Given the description of an element on the screen output the (x, y) to click on. 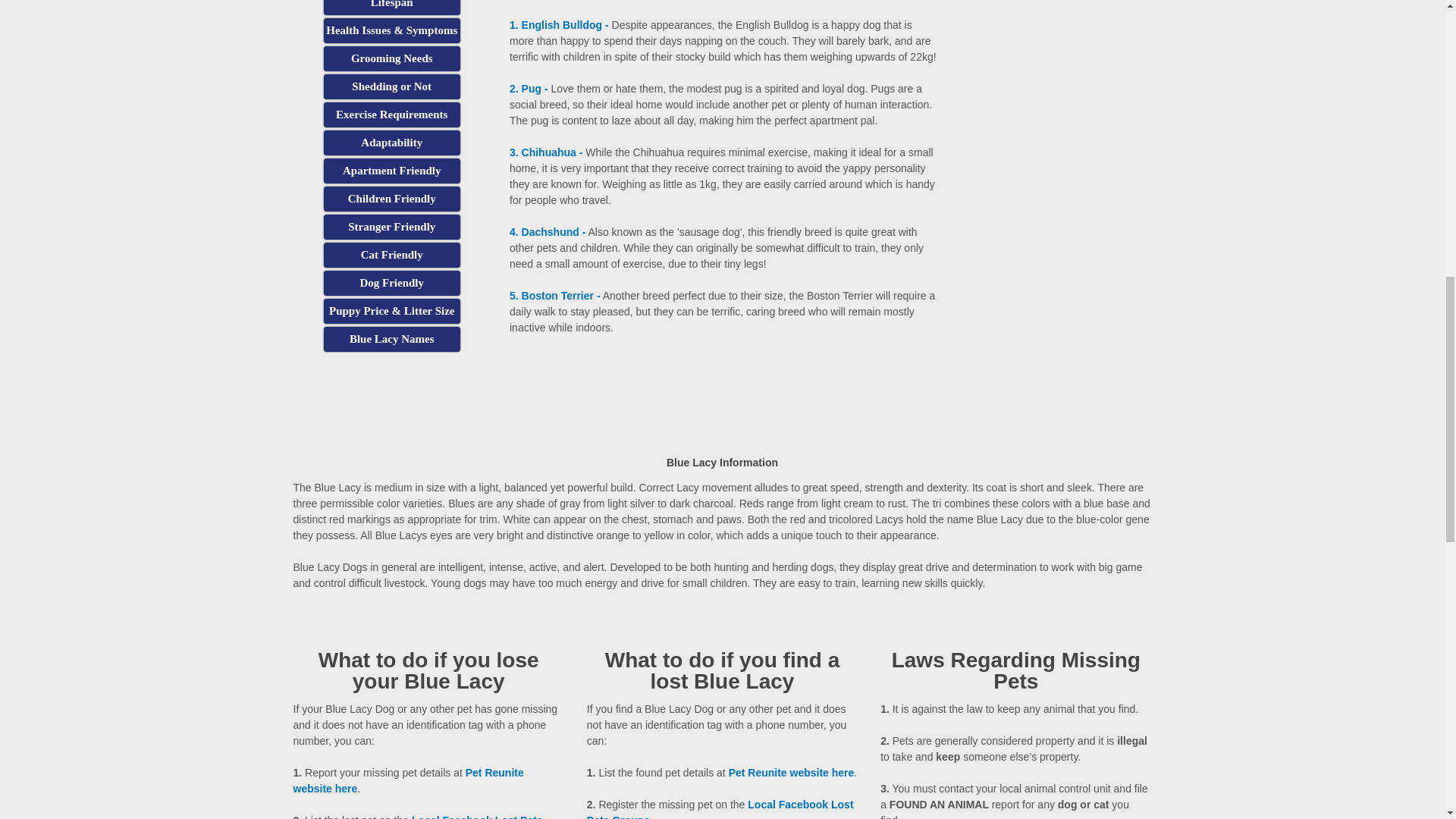
Are Blue Lacy Dogs easy to adapt? (391, 142)
Can Blue Lacy Dogs live in apartments? (391, 170)
Do Blue Lacy Dogs shed a lot? (391, 86)
Do Blue Lacy Dogs need lots of exercise? (391, 114)
What is the lifespan of Blue Lacy Dogs? (391, 7)
What are the common health problems with Blue Lacy Dogs? (391, 30)
Do Blue Lacy Dogs needs lot of looking after? (391, 58)
